Given the description of an element on the screen output the (x, y) to click on. 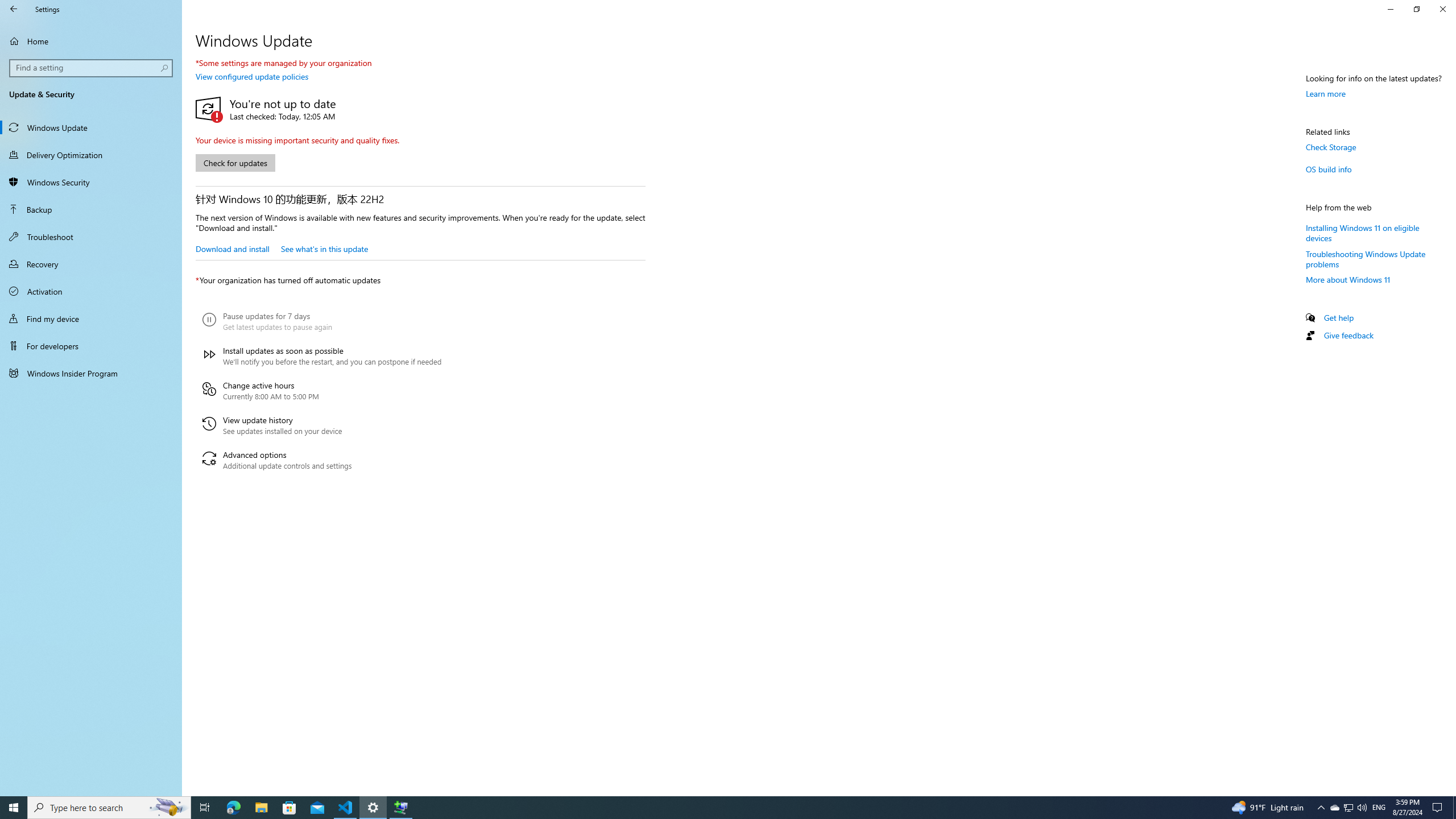
Extensible Wizards Host Process - 1 running window (400, 807)
Check Storage (1331, 146)
Settings - 1 running window (373, 807)
Get help (1338, 317)
Recovery (91, 263)
Windows Update (91, 126)
Windows Security (91, 181)
OS build info (1329, 168)
